Given the description of an element on the screen output the (x, y) to click on. 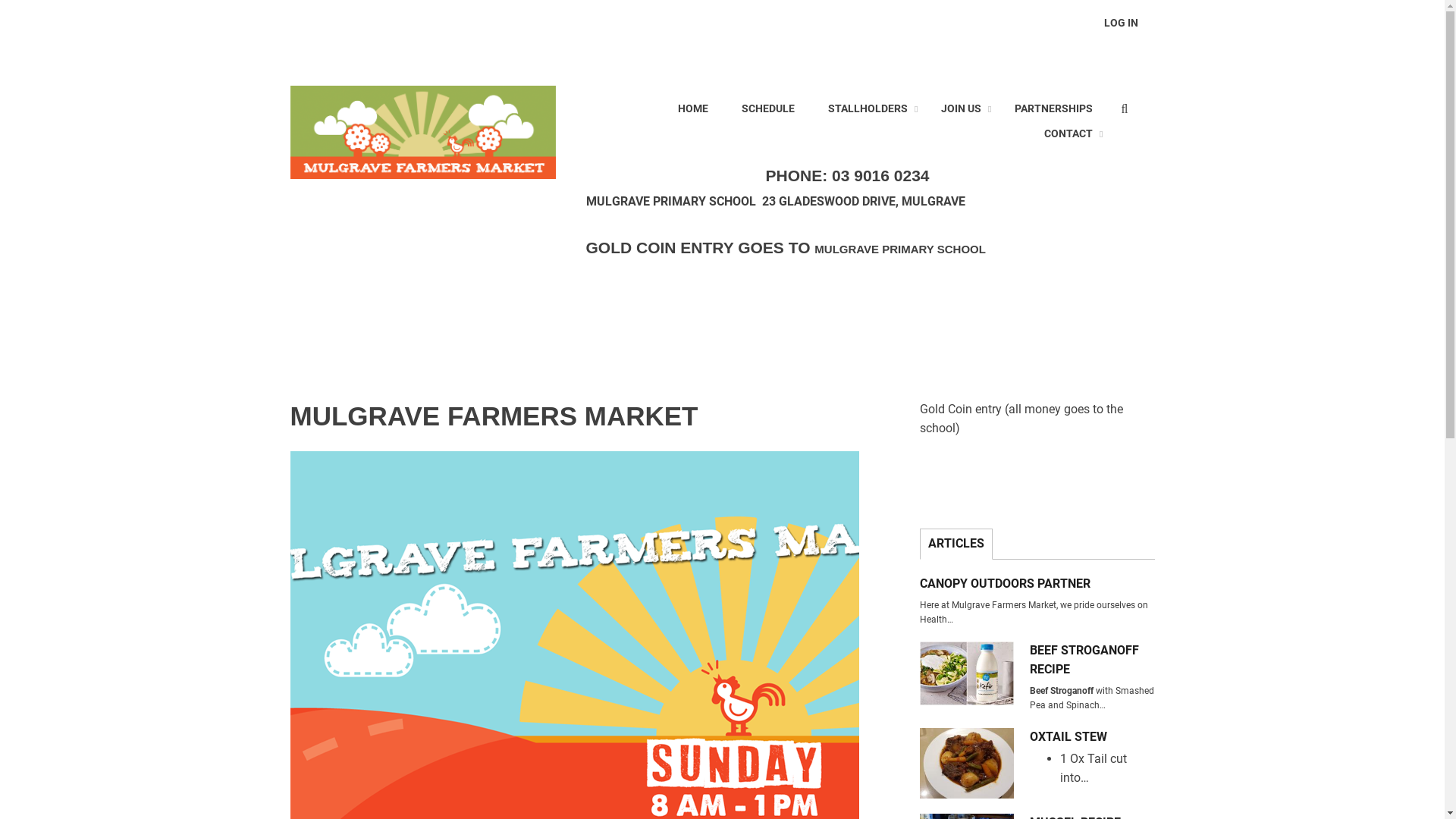
Skip to main content Element type: text (0, 0)
PARTNERSHIPS Element type: text (1052, 109)
ARTICLES Element type: text (955, 543)
Search Element type: text (1127, 110)
SCHEDULE Element type: text (767, 109)
OXTAIL STEW Element type: text (1091, 737)
HOME Element type: text (692, 109)
BEEF STROGANOFF RECIPE Element type: text (1091, 660)
CANOPY OUTDOORS PARTNER Element type: text (1036, 583)
Enter the terms you wish to search for. Element type: hover (1131, 108)
CONTACT Element type: text (1068, 134)
LOG IN Element type: text (1120, 23)
Oxtail Stew Element type: hover (966, 763)
JOIN US Element type: text (961, 109)
Blue Bay Cheese Element type: hover (966, 672)
STALLHOLDERS Element type: text (866, 109)
Home Element type: hover (422, 131)
